Given the description of an element on the screen output the (x, y) to click on. 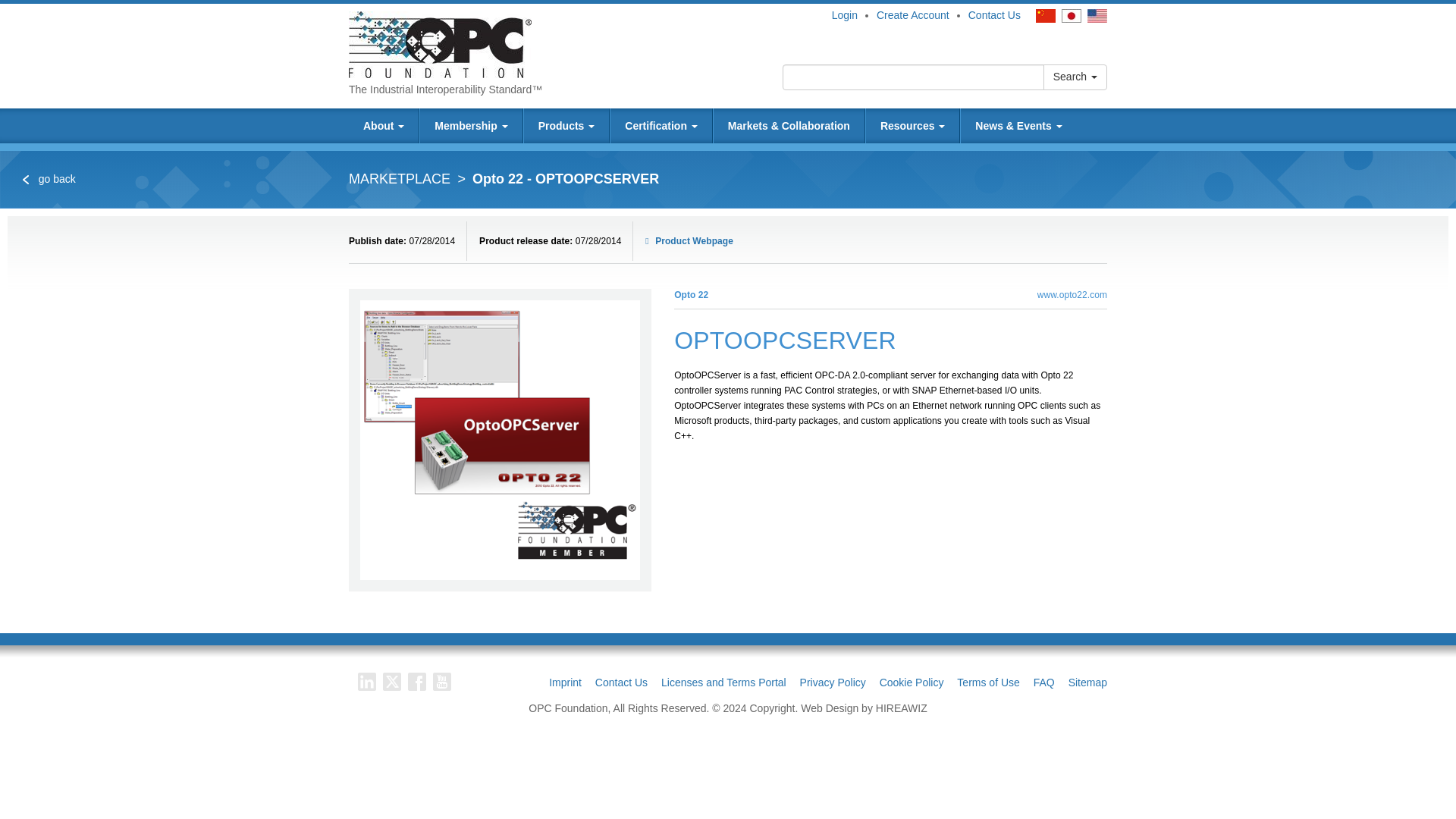
OPTOOPCSERVER (499, 439)
Product Webpage (689, 240)
About (384, 125)
Create Account (912, 15)
Membership (470, 125)
OPC Foundation Privacy Policy (832, 682)
Login (844, 15)
OPC Foundation (440, 43)
MARKETPLACE (399, 178)
Follow us on Twitter (391, 681)
